Given the description of an element on the screen output the (x, y) to click on. 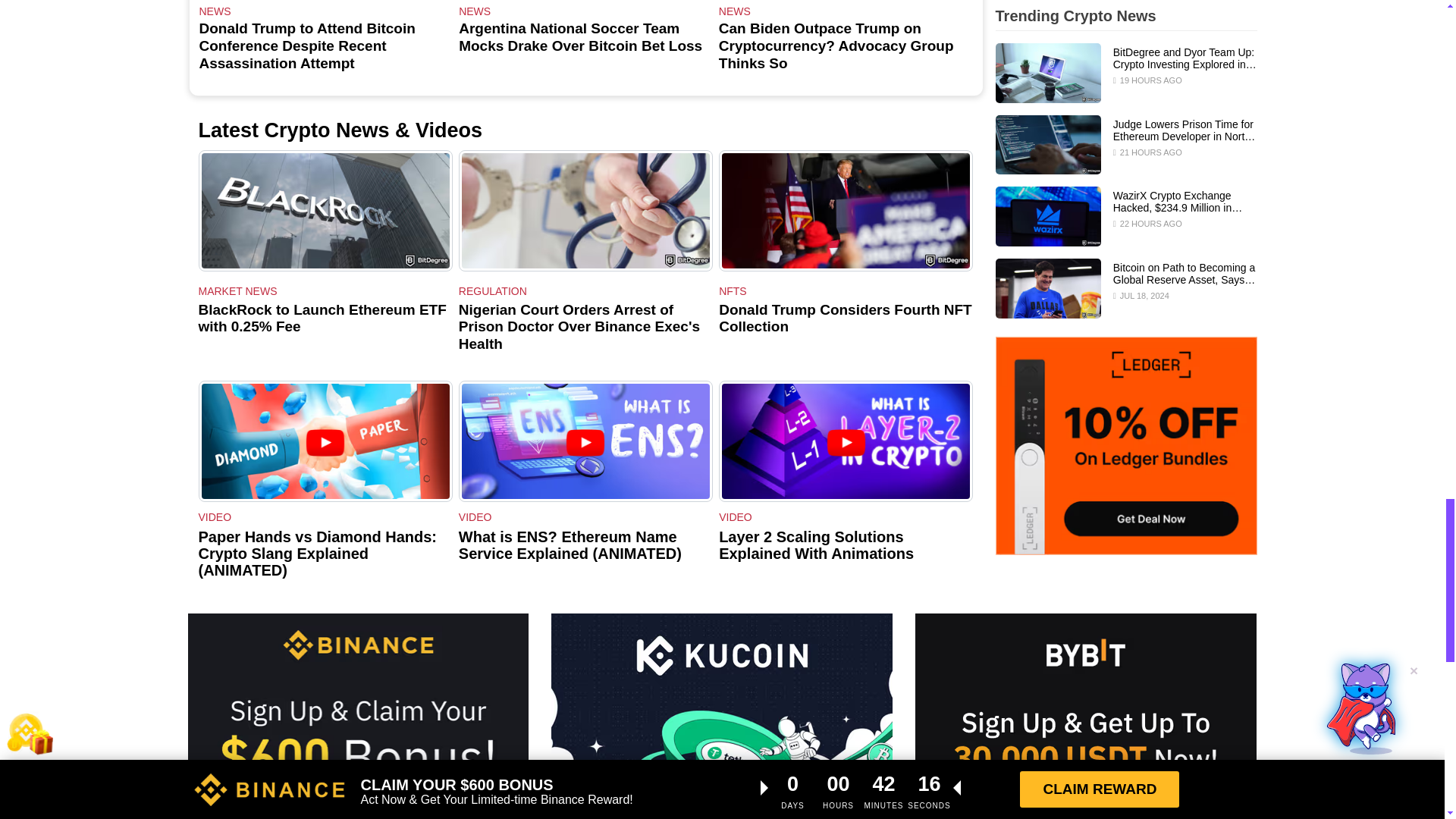
Donald Trump Considers Fourth NFT Collection (845, 210)
Layer 2 Scaling Solutions Explained With Animations (846, 443)
Layer 2 Scaling Solutions Explained With Animations (845, 441)
